Given the description of an element on the screen output the (x, y) to click on. 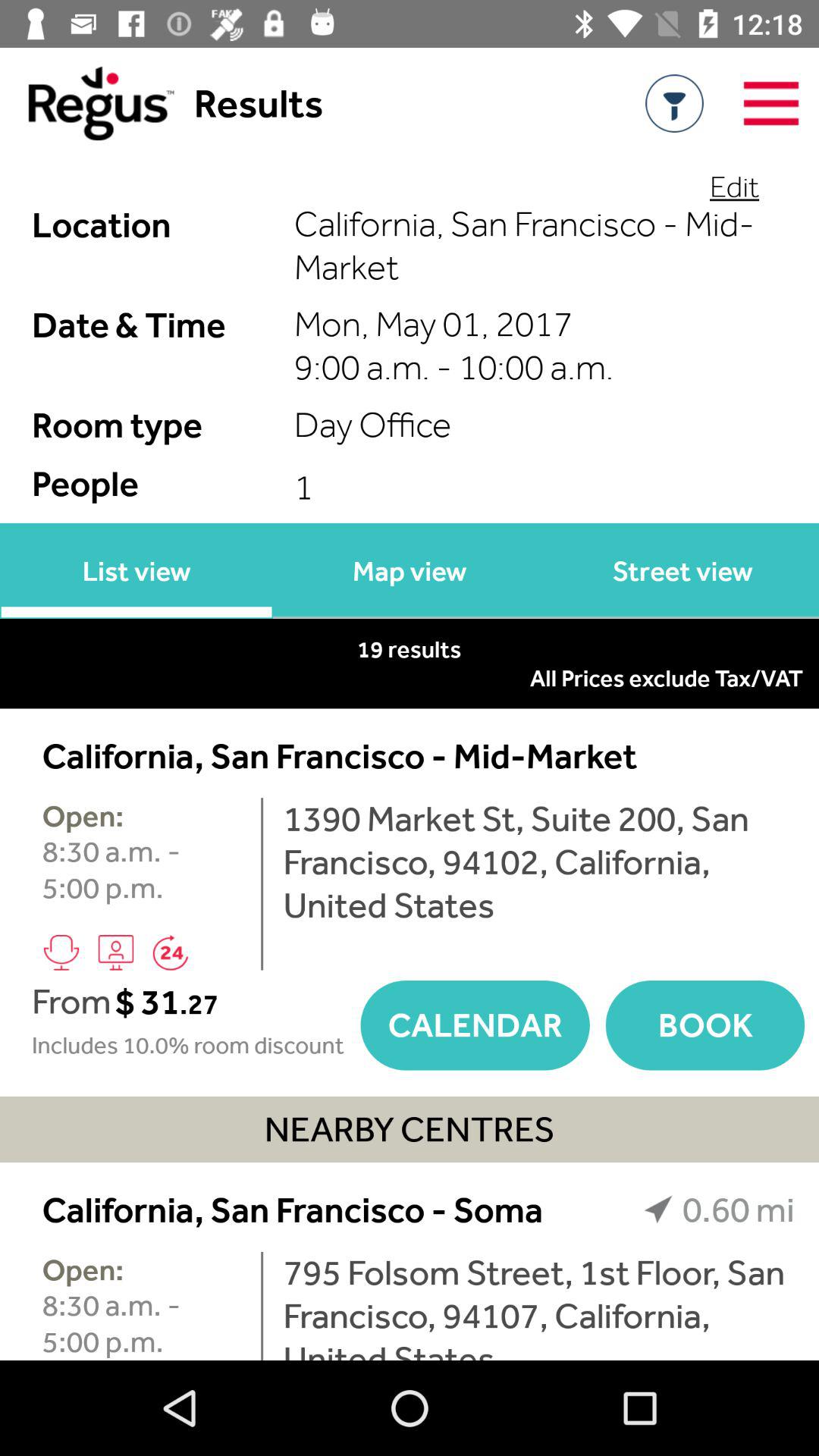
turn off the icon above the california san francisco (734, 186)
